Given the description of an element on the screen output the (x, y) to click on. 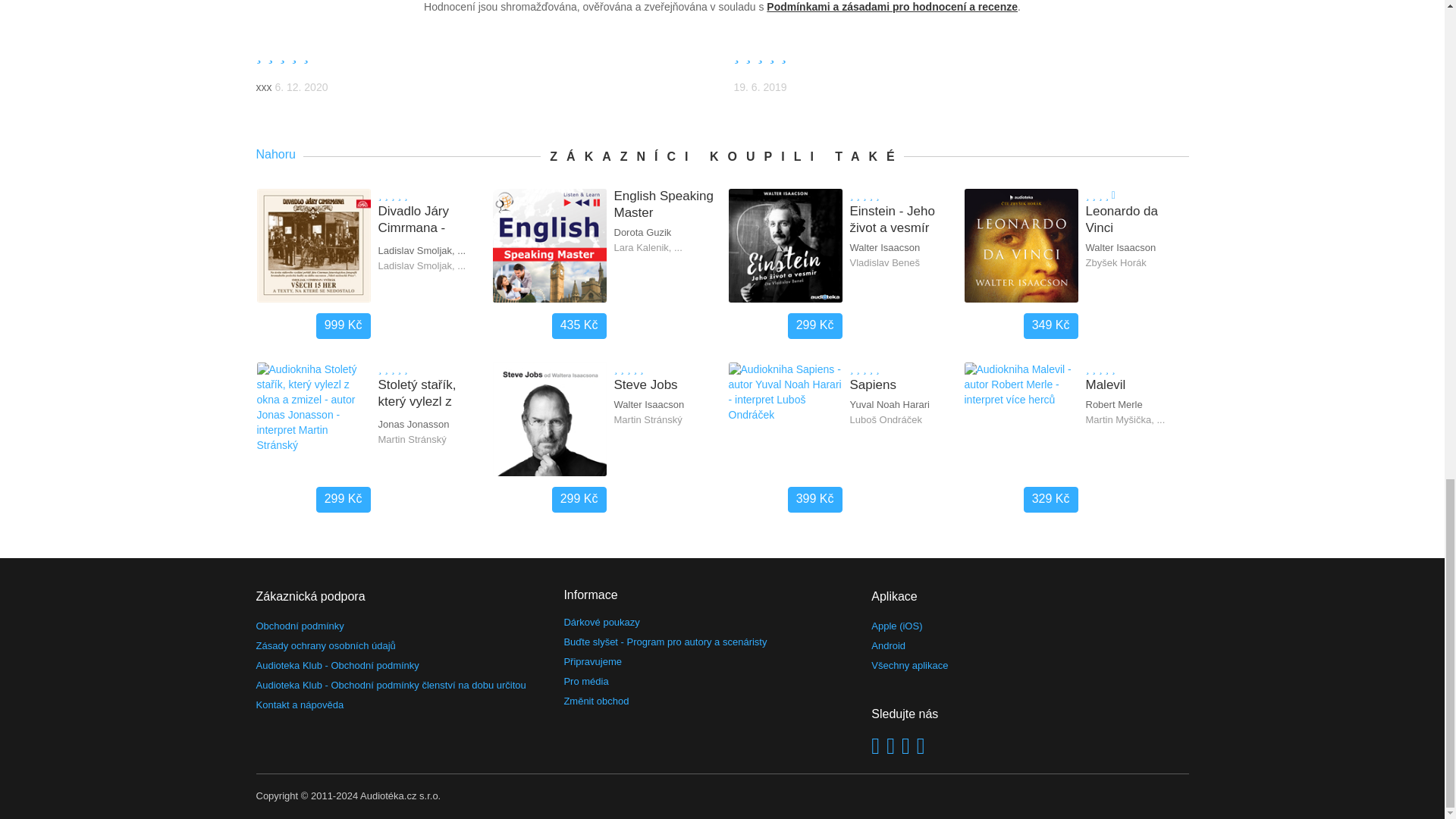
English Speaking Master (665, 204)
Sapiens (900, 384)
Leonardo da Vinci (1137, 219)
Steve Jobs (665, 384)
Malevil (1137, 384)
Nahoru (279, 154)
